Given the description of an element on the screen output the (x, y) to click on. 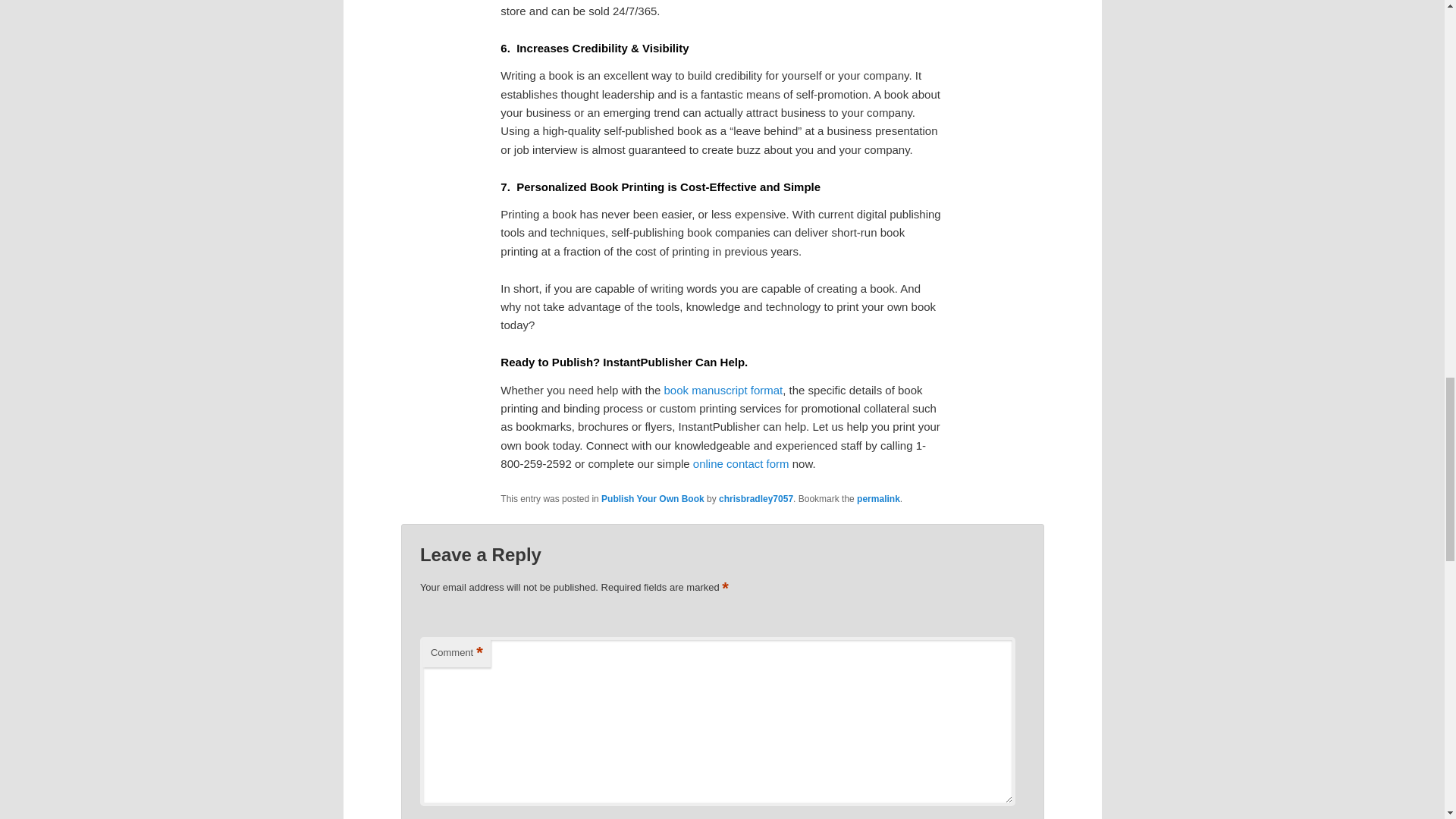
Publish Your Own Book (652, 498)
permalink (878, 498)
book manuscript format (723, 390)
online contact form (741, 463)
chrisbradley7057 (756, 498)
